Given the description of an element on the screen output the (x, y) to click on. 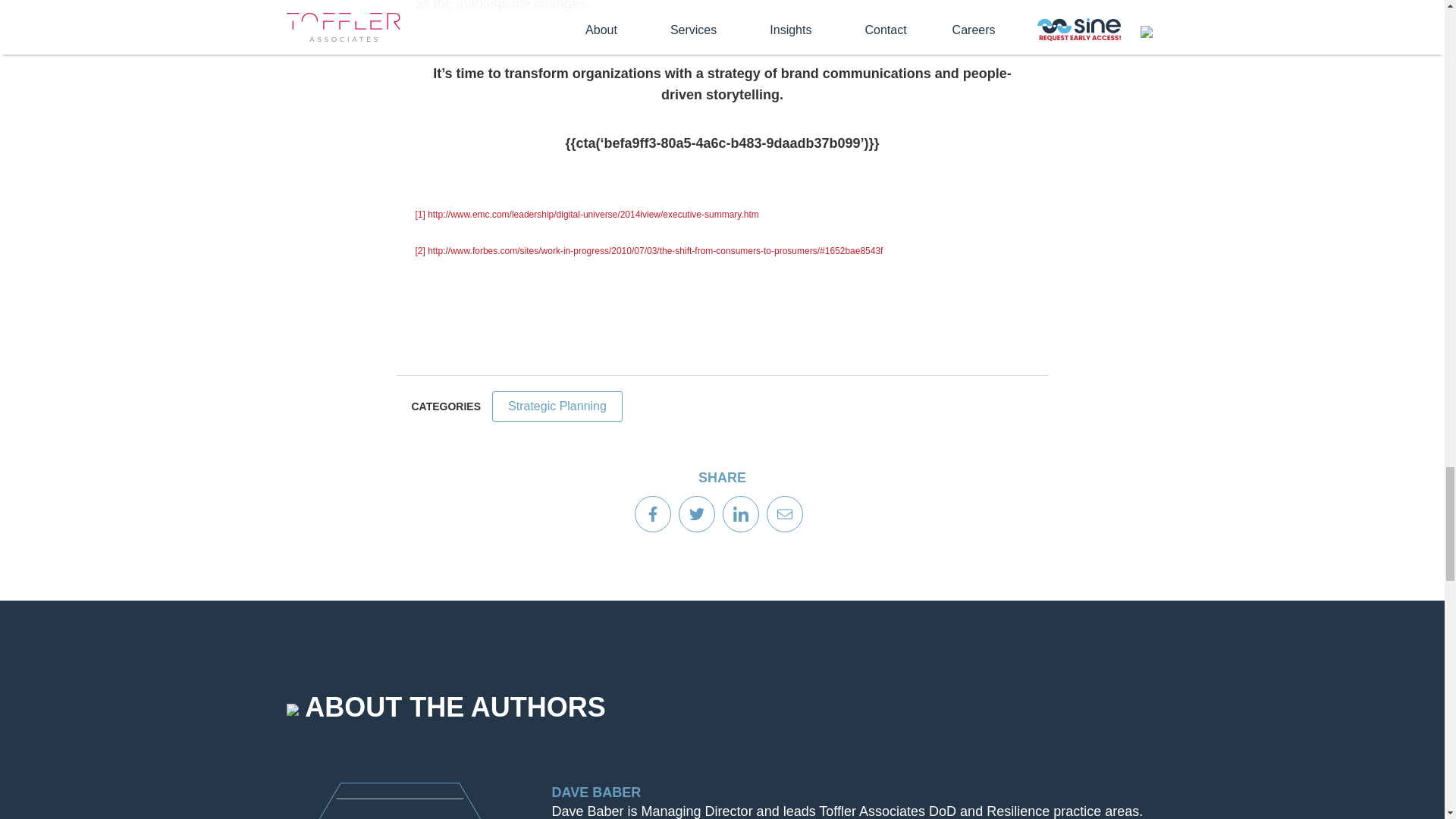
linkedin-in-brands (740, 513)
twitter-brands (695, 513)
facebook-f-brands (652, 513)
